Given the description of an element on the screen output the (x, y) to click on. 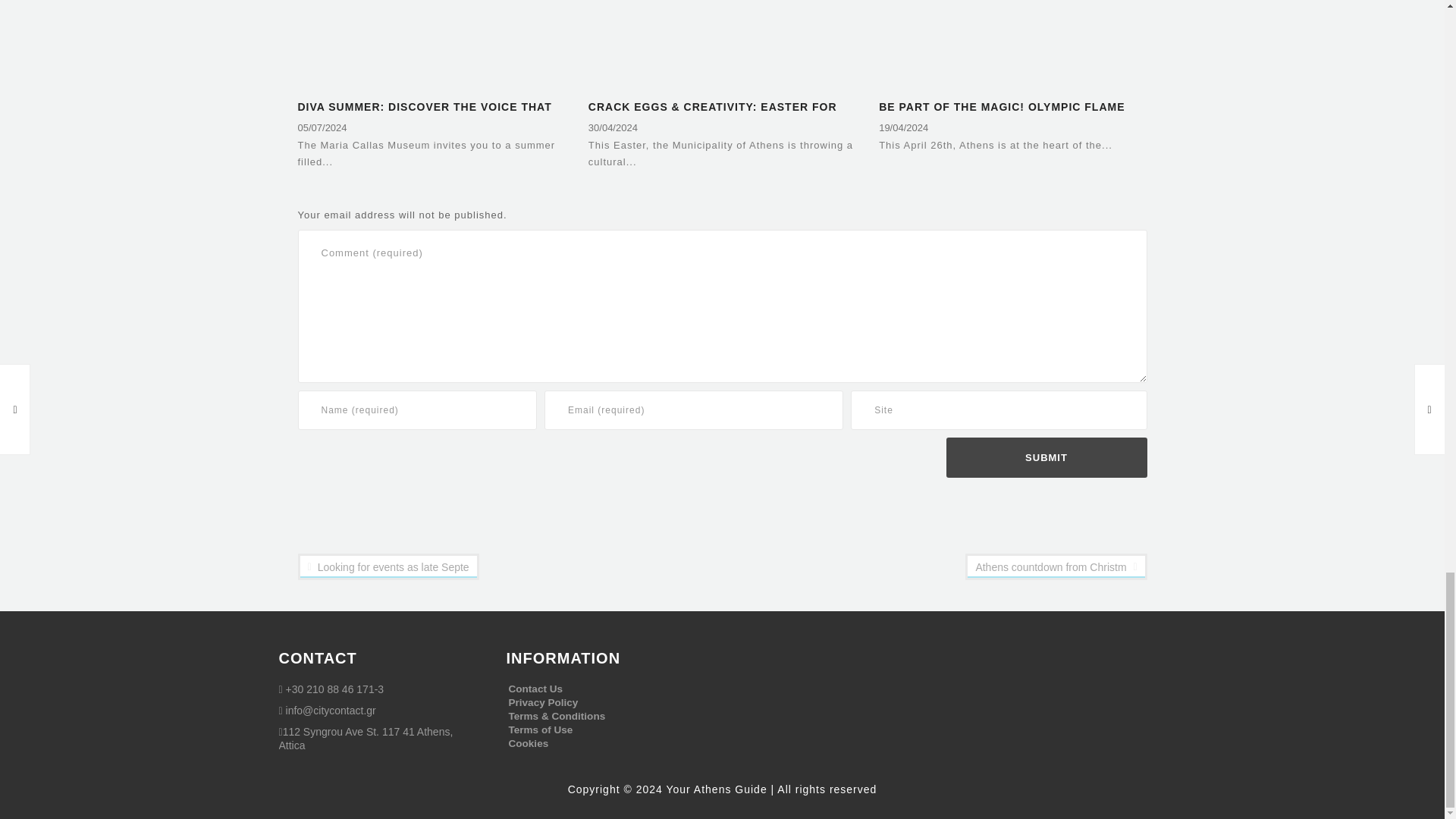
Submit (1046, 457)
